Given the description of an element on the screen output the (x, y) to click on. 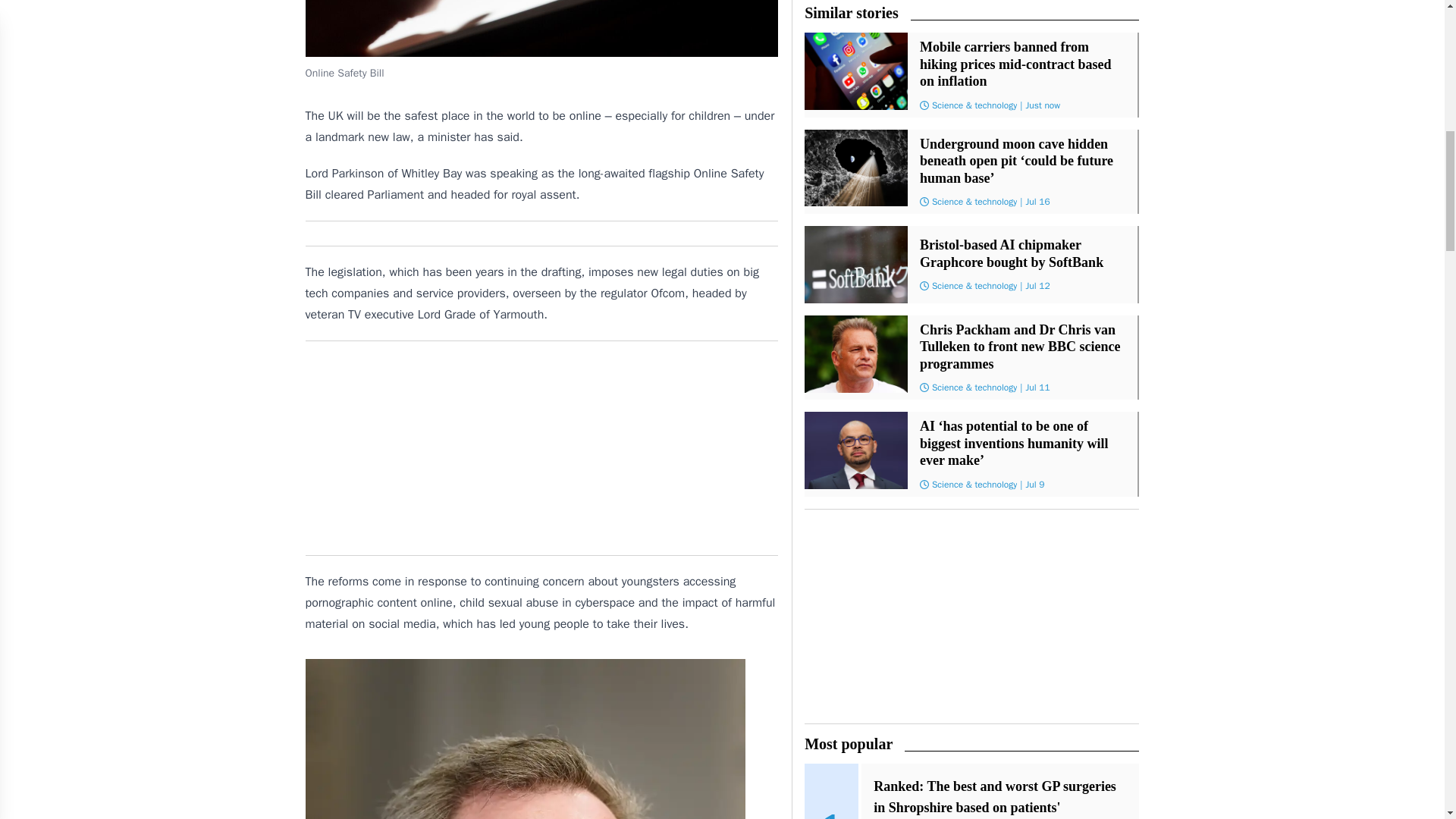
3rd party ad content (541, 447)
